Given the description of an element on the screen output the (x, y) to click on. 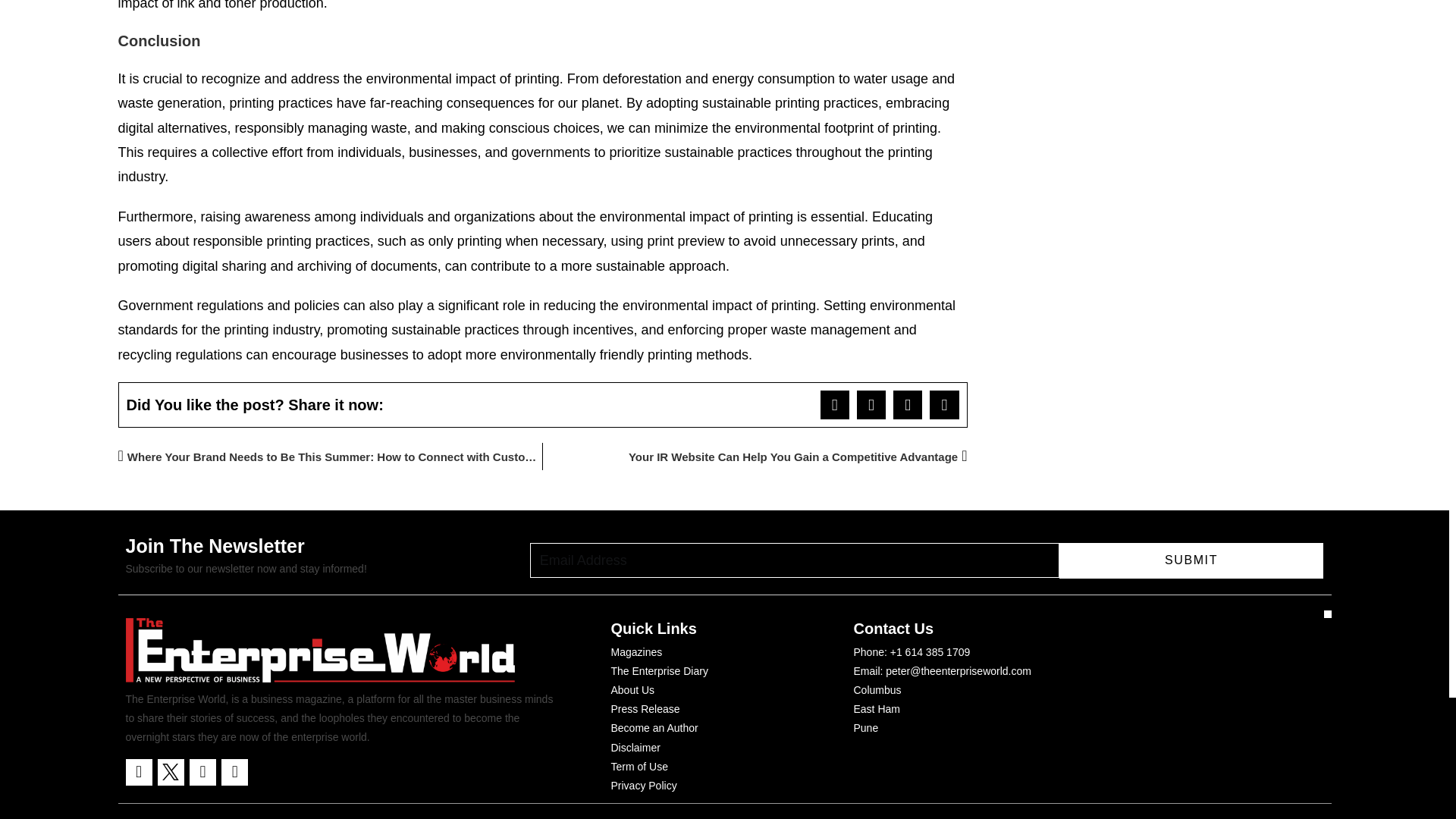
SUBMIT (1191, 560)
Magazines (636, 651)
Your IR Website Can Help You Gain a Competitive Advantage (755, 456)
The Enterprise Diary (659, 670)
